Given the description of an element on the screen output the (x, y) to click on. 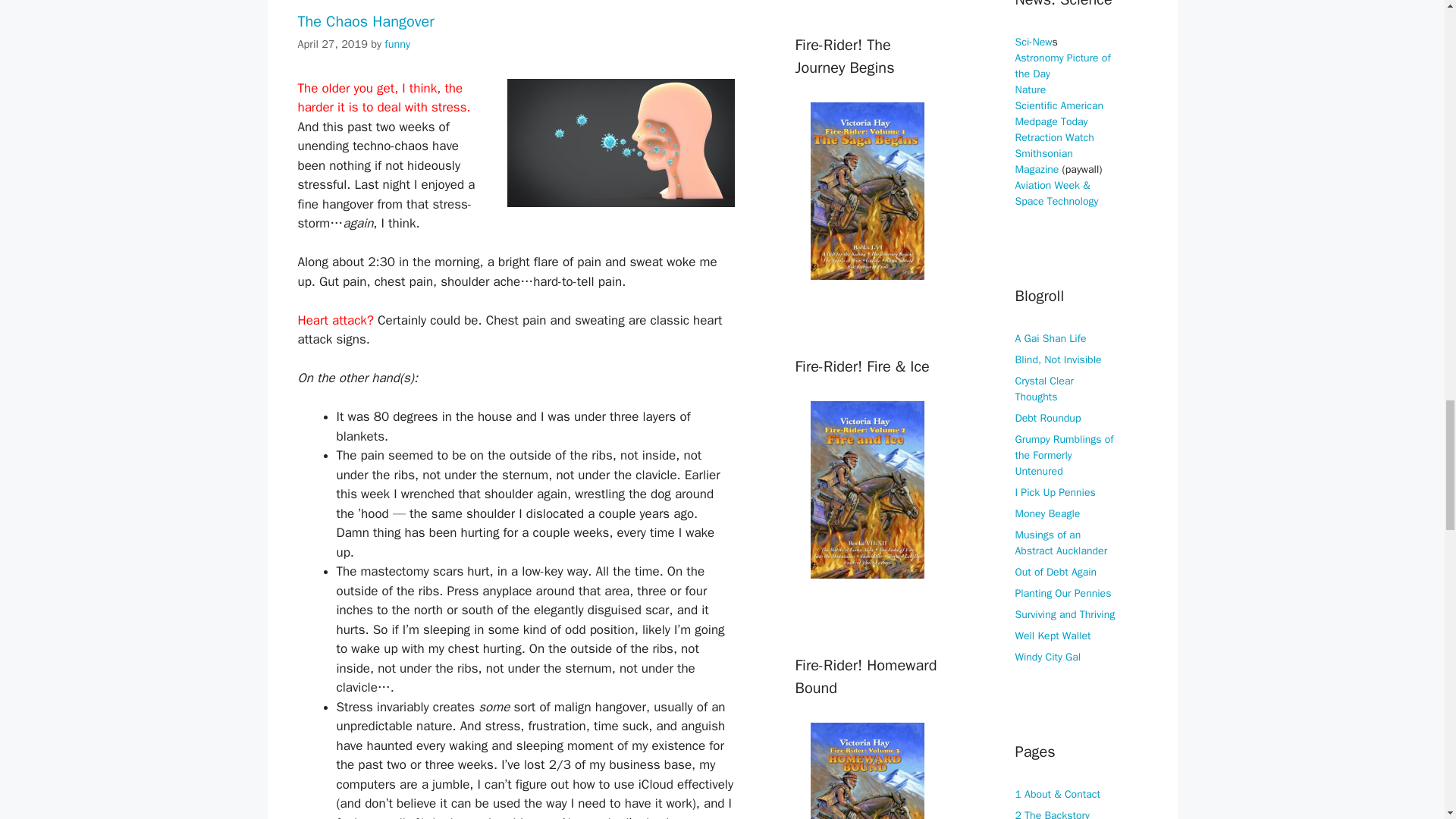
The Chaos Hangover (365, 21)
View all posts by funny (397, 43)
funny (397, 43)
